Given the description of an element on the screen output the (x, y) to click on. 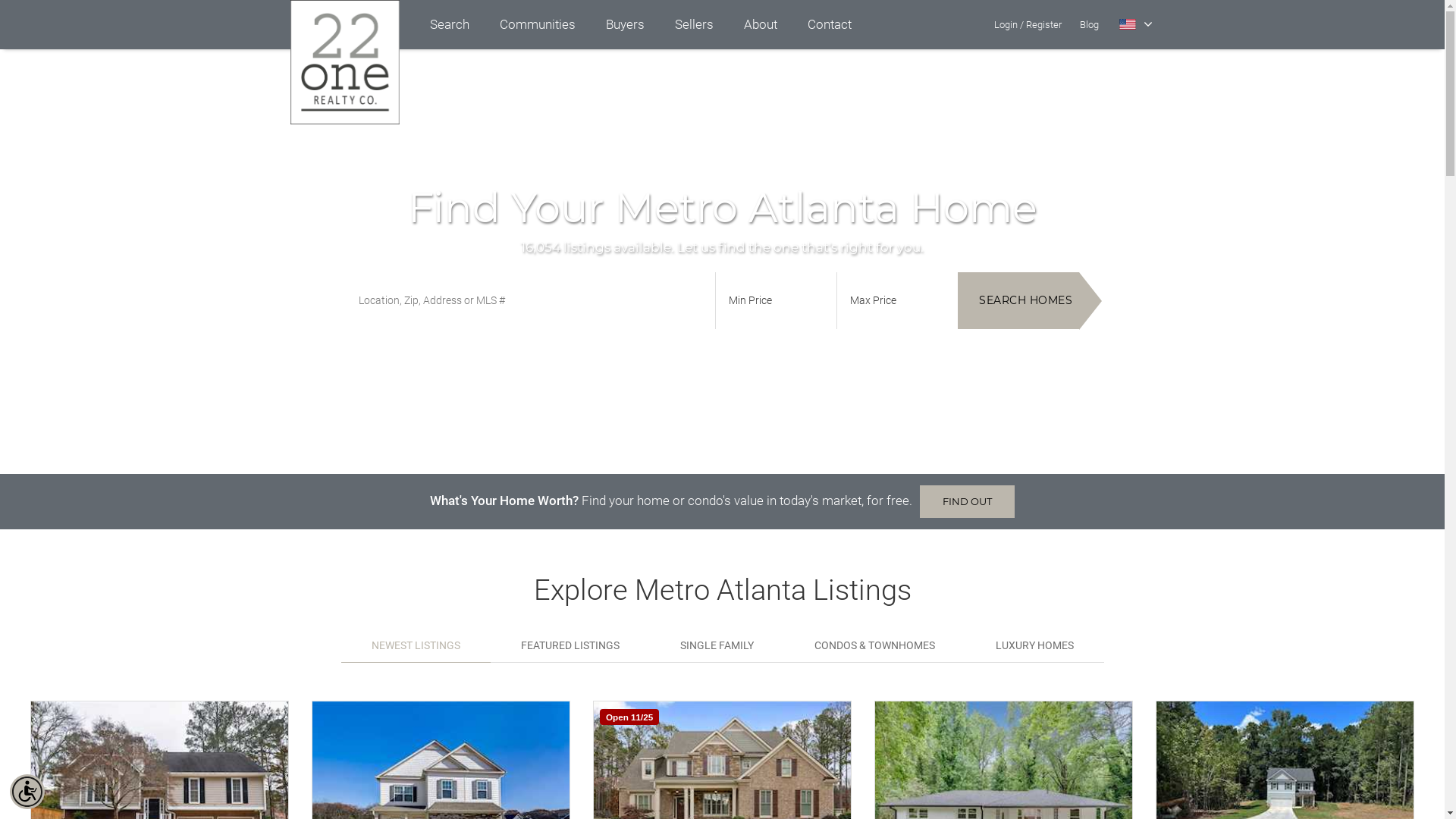
Contact Element type: text (828, 24)
Communities Element type: text (536, 24)
Blog Element type: text (1088, 24)
Enter Location, Zip, Address or MLS # Element type: hover (528, 300)
Login/ Element type: text (1009, 24)
SEARCH HOMES Element type: text (1017, 300)
Buyers Element type: text (623, 24)
Register Element type: text (1042, 24)
FIND OUT Element type: text (966, 501)
About Element type: text (759, 24)
Select Language Element type: hover (1135, 24)
Search Element type: text (448, 24)
Sellers Element type: text (693, 24)
